Given the description of an element on the screen output the (x, y) to click on. 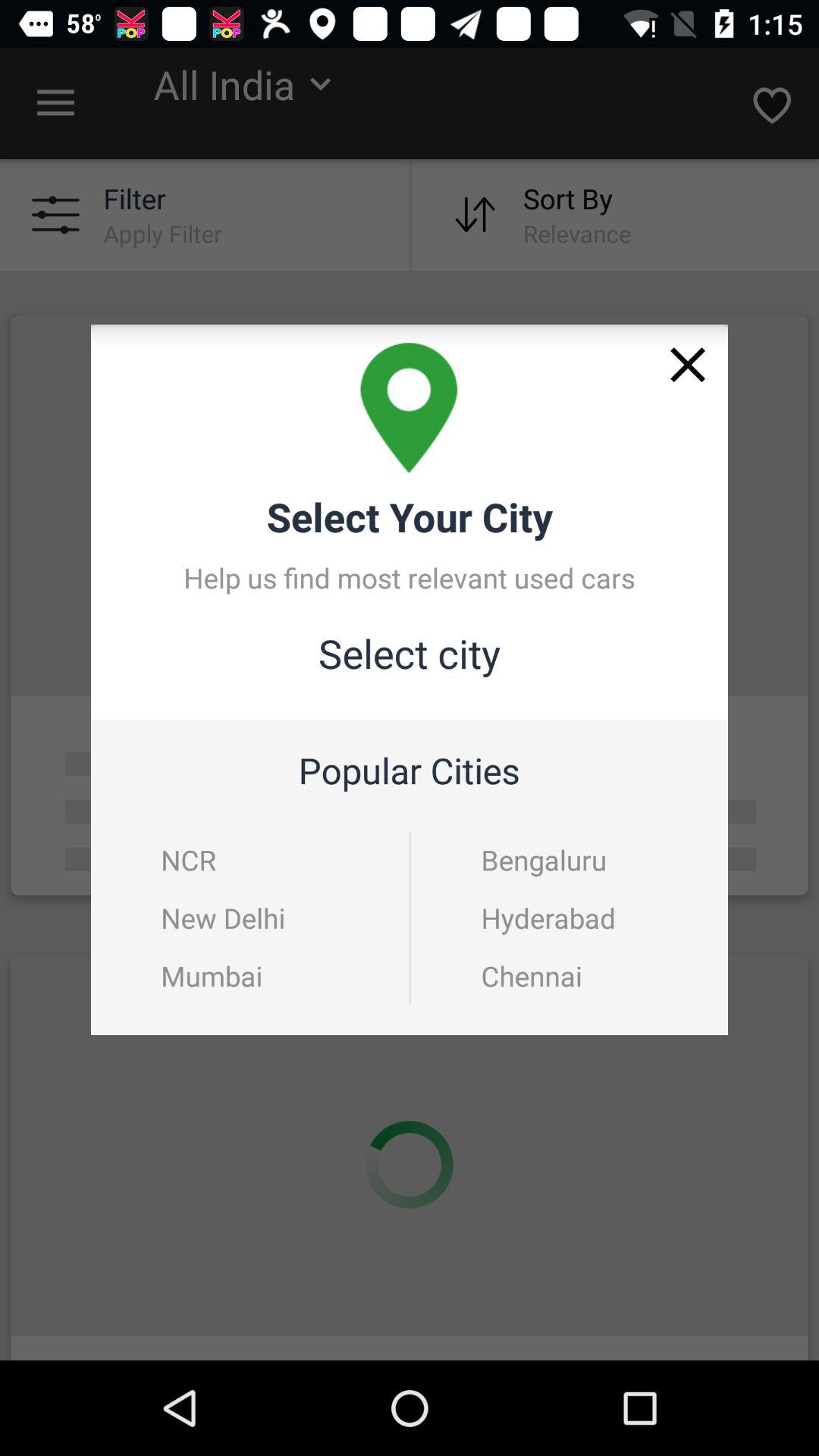
press the bengaluru (569, 859)
